Given the description of an element on the screen output the (x, y) to click on. 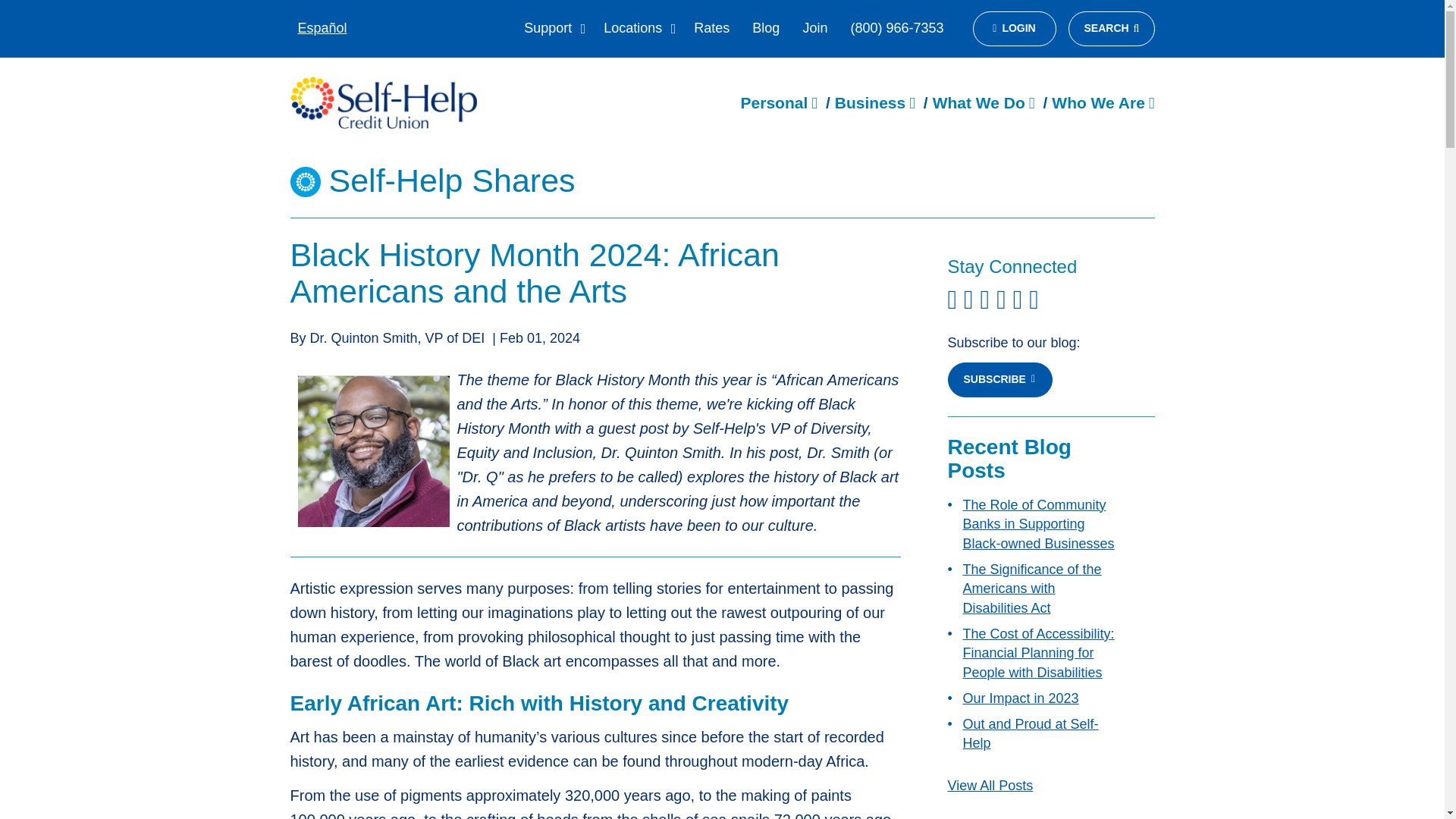
Support (552, 28)
Rates (710, 28)
Locations (636, 28)
Join (814, 28)
Blog (765, 28)
Personal (778, 102)
LOGIN (1013, 28)
Personal (778, 102)
